Given the description of an element on the screen output the (x, y) to click on. 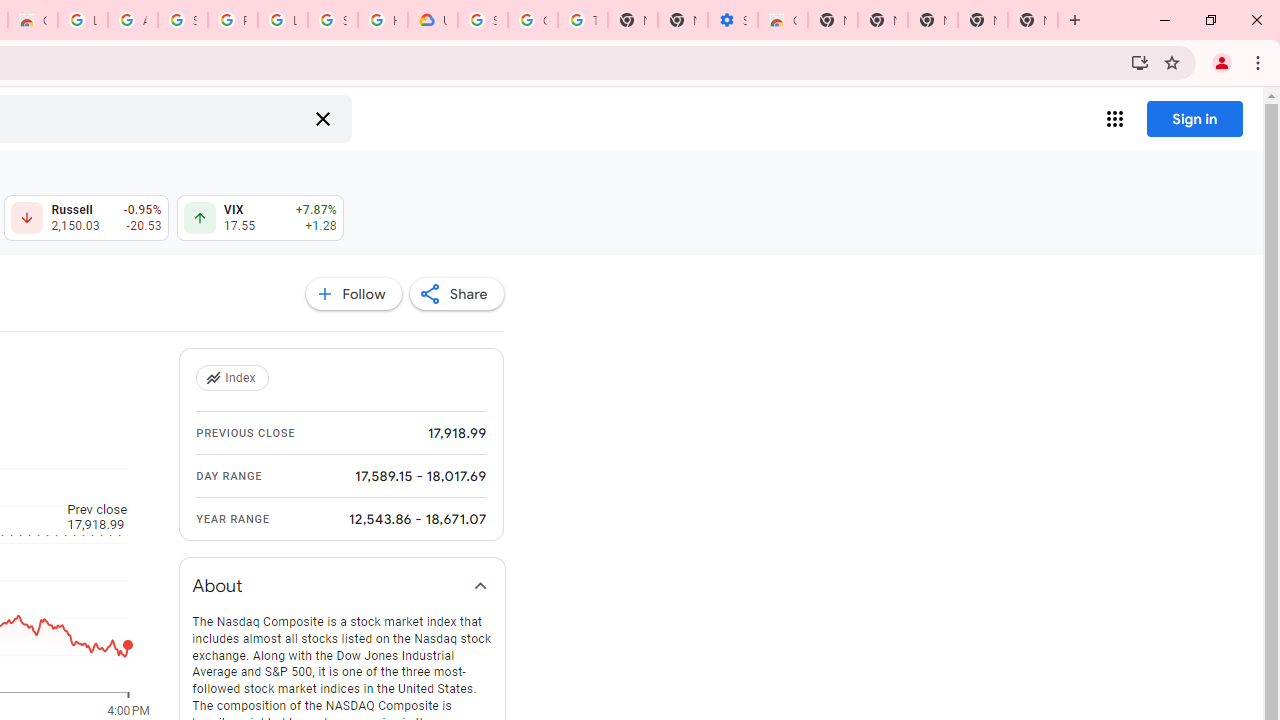
Clear search (322, 118)
Sign in (1194, 118)
Chrome Web Store - Accessibility extensions (782, 20)
Sign in - Google Accounts (182, 20)
Sign in - Google Accounts (483, 20)
Sign in - Google Accounts (333, 20)
Google Account Help (533, 20)
